Given the description of an element on the screen output the (x, y) to click on. 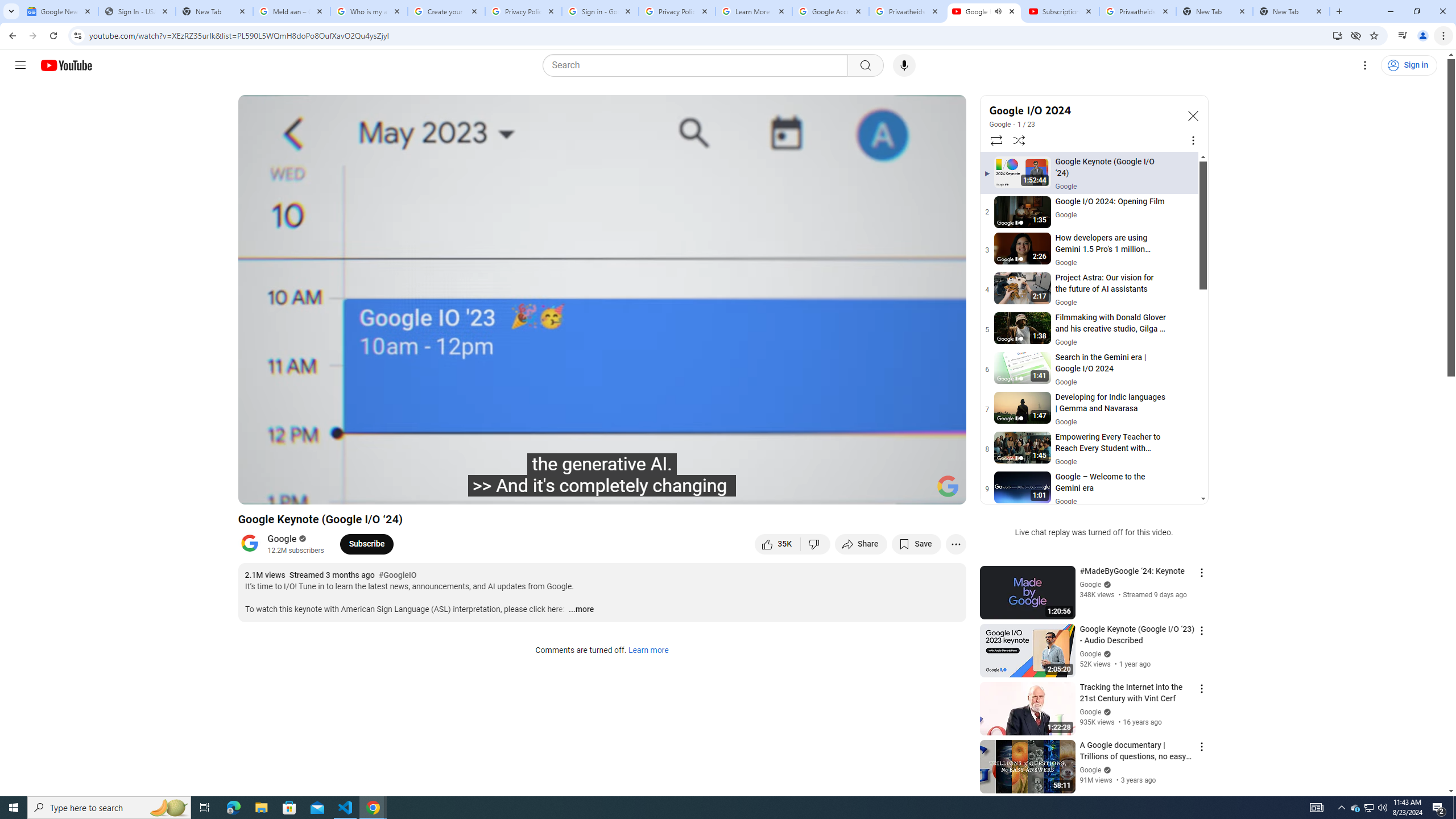
Create your Google Account (446, 11)
Action menu (1200, 746)
Search with your voice (903, 65)
Full screen (f) (945, 490)
Google I/O 2024 (1082, 109)
Sign In - USA TODAY (136, 11)
